Given the description of an element on the screen output the (x, y) to click on. 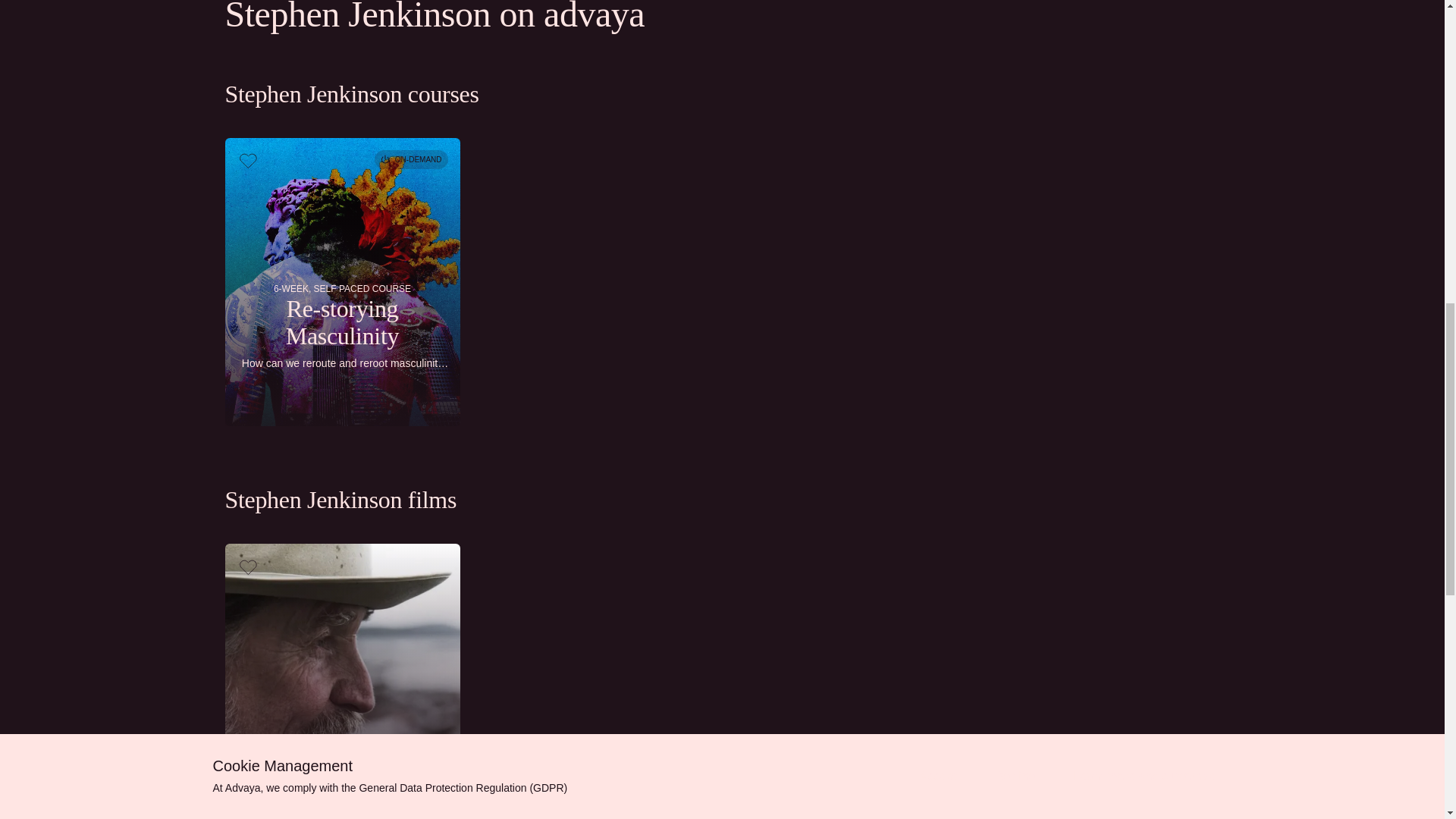
A time with no fathers: fathering, patrimony and eldership (342, 681)
